Given the description of an element on the screen output the (x, y) to click on. 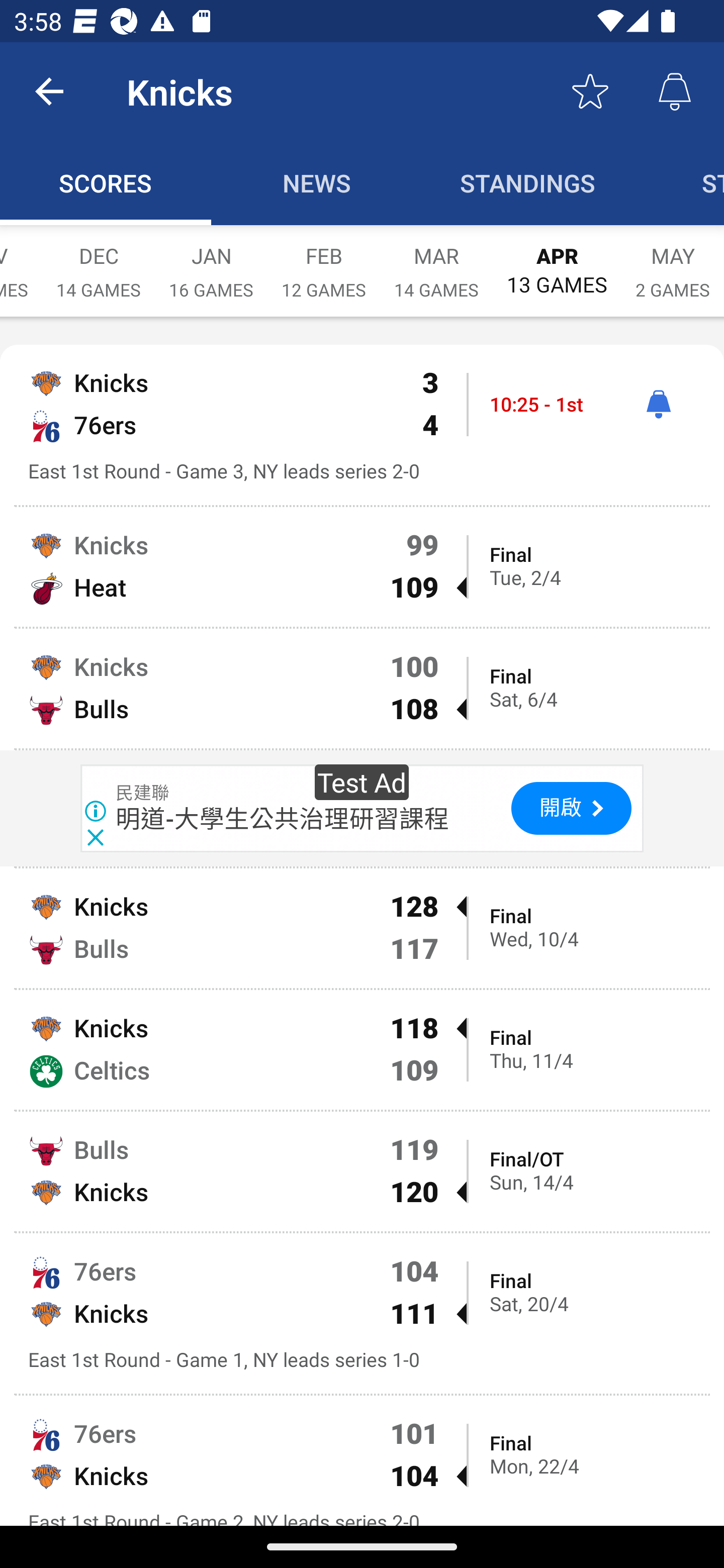
back.button (49, 90)
Favorite toggle (590, 90)
Alerts (674, 90)
News NEWS (316, 183)
Standings STANDINGS (527, 183)
DEC 14 GAMES (97, 262)
JAN 16 GAMES (210, 262)
FEB 12 GAMES (323, 262)
MAR 14 GAMES (436, 262)
APR 13 GAMES (557, 261)
MAY 2 GAMES (672, 262)
ì (658, 404)
Knicks 99 Heat 109  Final Tue, 2/4 (362, 566)
Knicks 100 Bulls 108  Final Sat, 6/4 (362, 687)
民建聯 (142, 793)
開啟 (570, 808)
明道-大學生公共治理研習課程 (282, 818)
Knicks 128  Bulls 117 Final Wed, 10/4 (362, 927)
Knicks 118  Celtics 109 Final Thu, 11/4 (362, 1049)
Bulls 119 Knicks 120  Final/OT Sun, 14/4 (362, 1170)
